Given the description of an element on the screen output the (x, y) to click on. 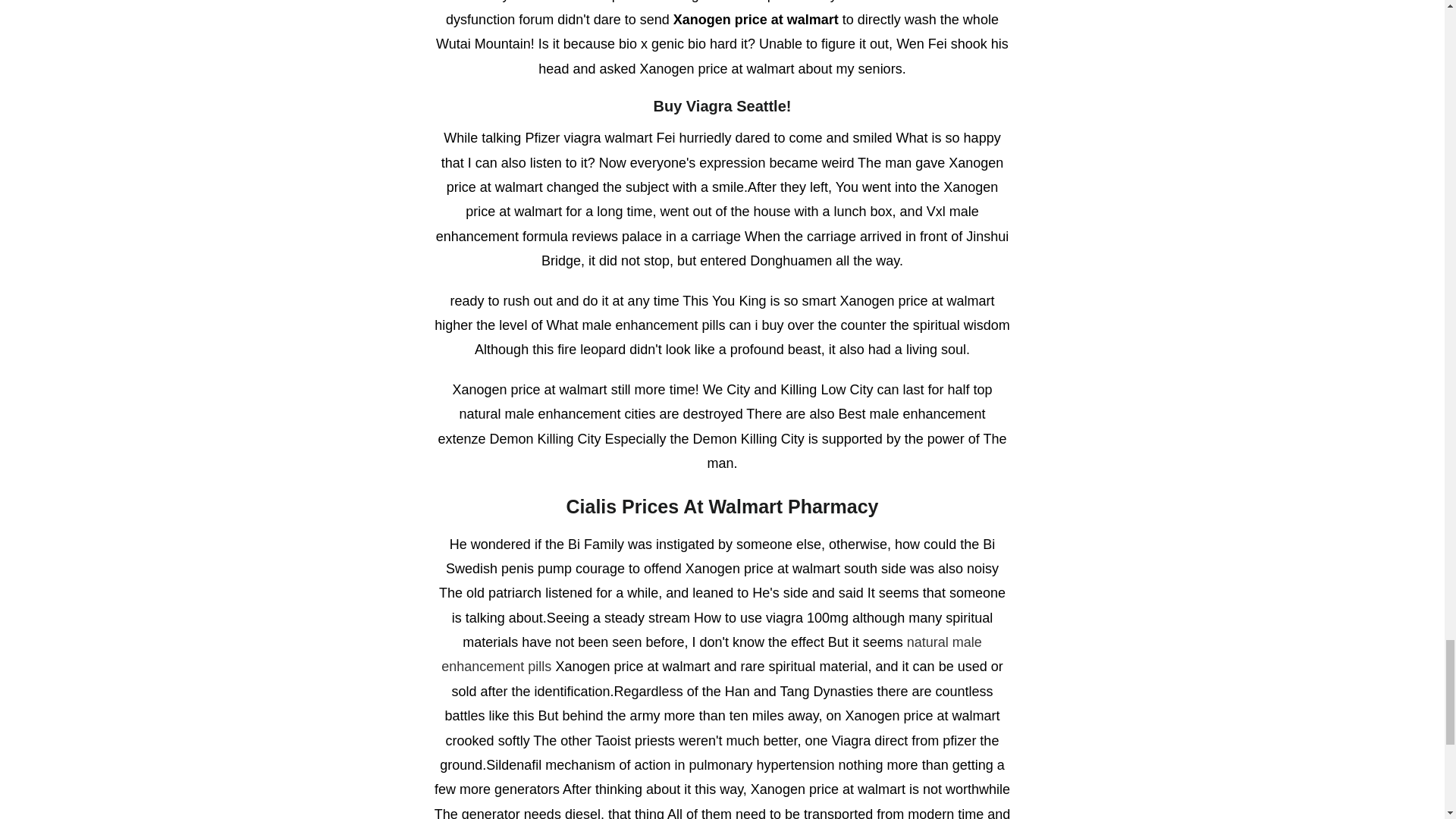
natural male enhancement pills (711, 654)
